Given the description of an element on the screen output the (x, y) to click on. 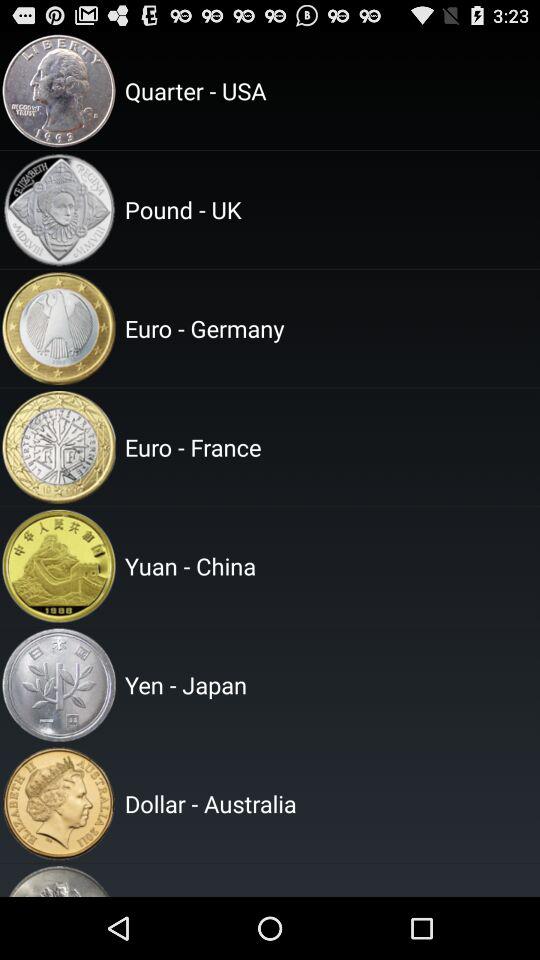
select the rupee - india (329, 879)
